Given the description of an element on the screen output the (x, y) to click on. 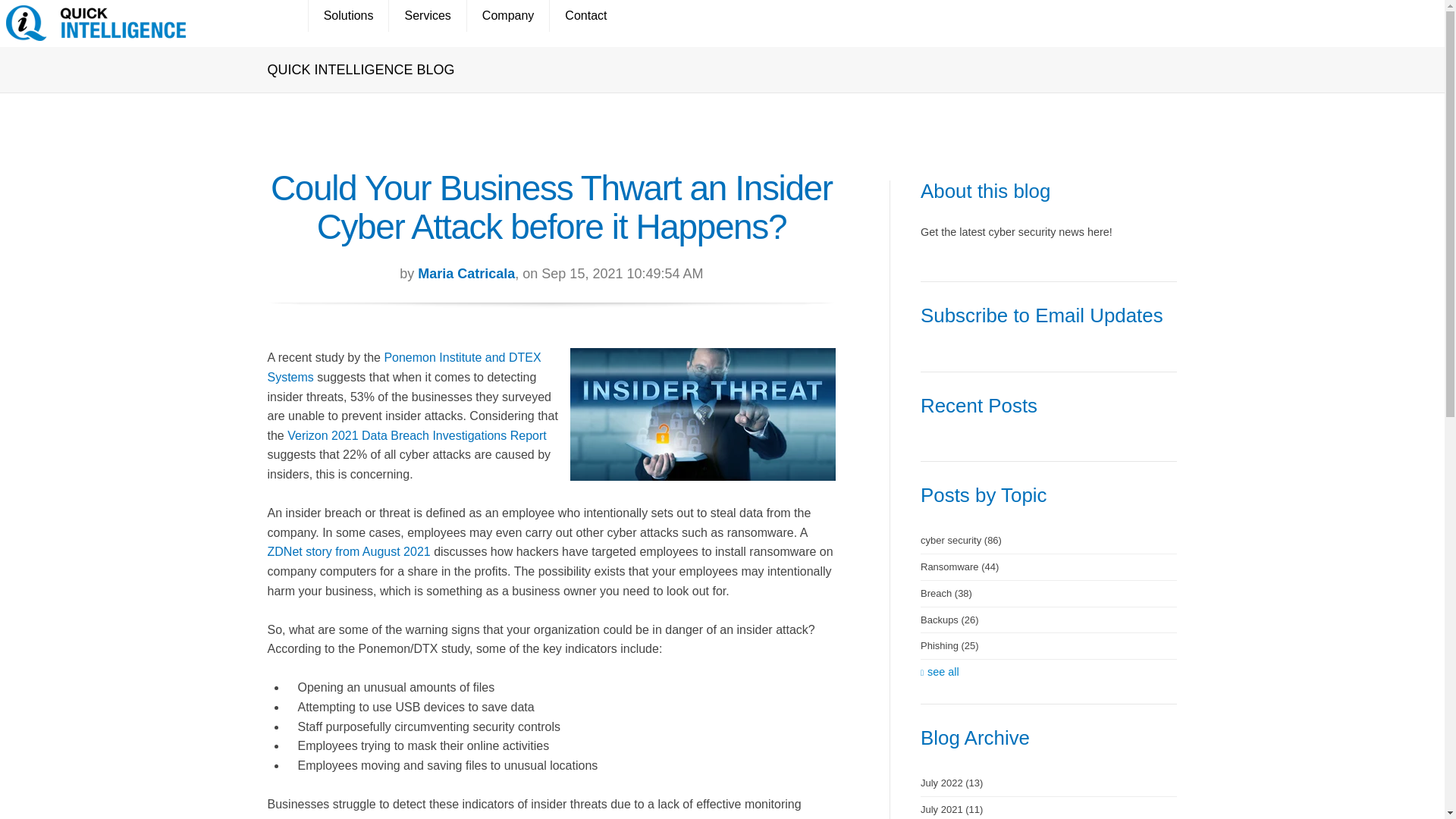
ZDNet story from August 2021 (347, 551)
Blogs (277, 15)
Company (506, 15)
Solutions (347, 15)
Maria Catricala (466, 273)
see all (939, 670)
Services (426, 15)
Quick Intelligence (95, 22)
Ponemon Institute and DTEX Systems (403, 367)
Contact (584, 15)
Verizon 2021 Data Breach Investigations Report (416, 435)
